Given the description of an element on the screen output the (x, y) to click on. 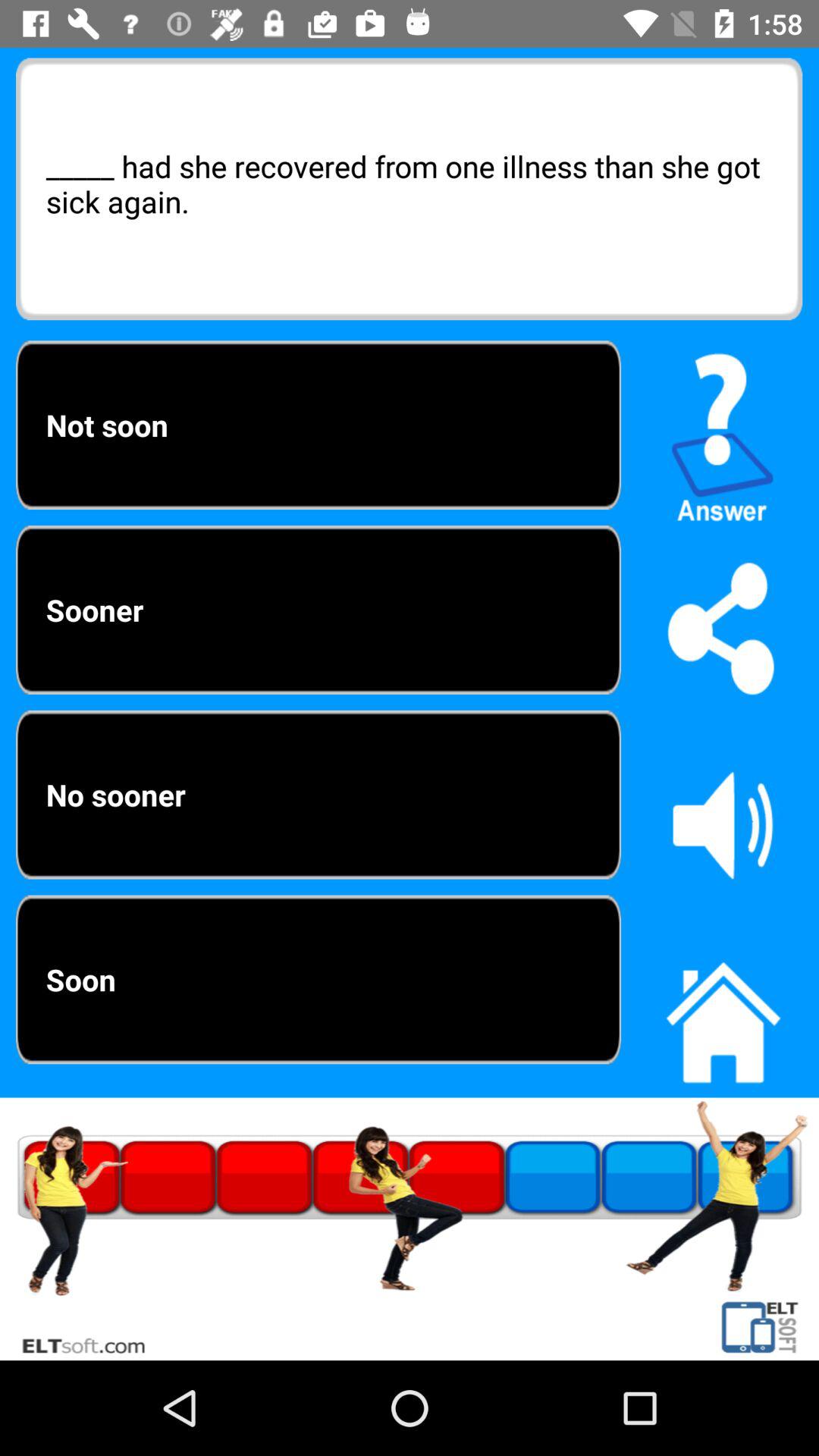
turn off the not soon item (318, 424)
